Given the description of an element on the screen output the (x, y) to click on. 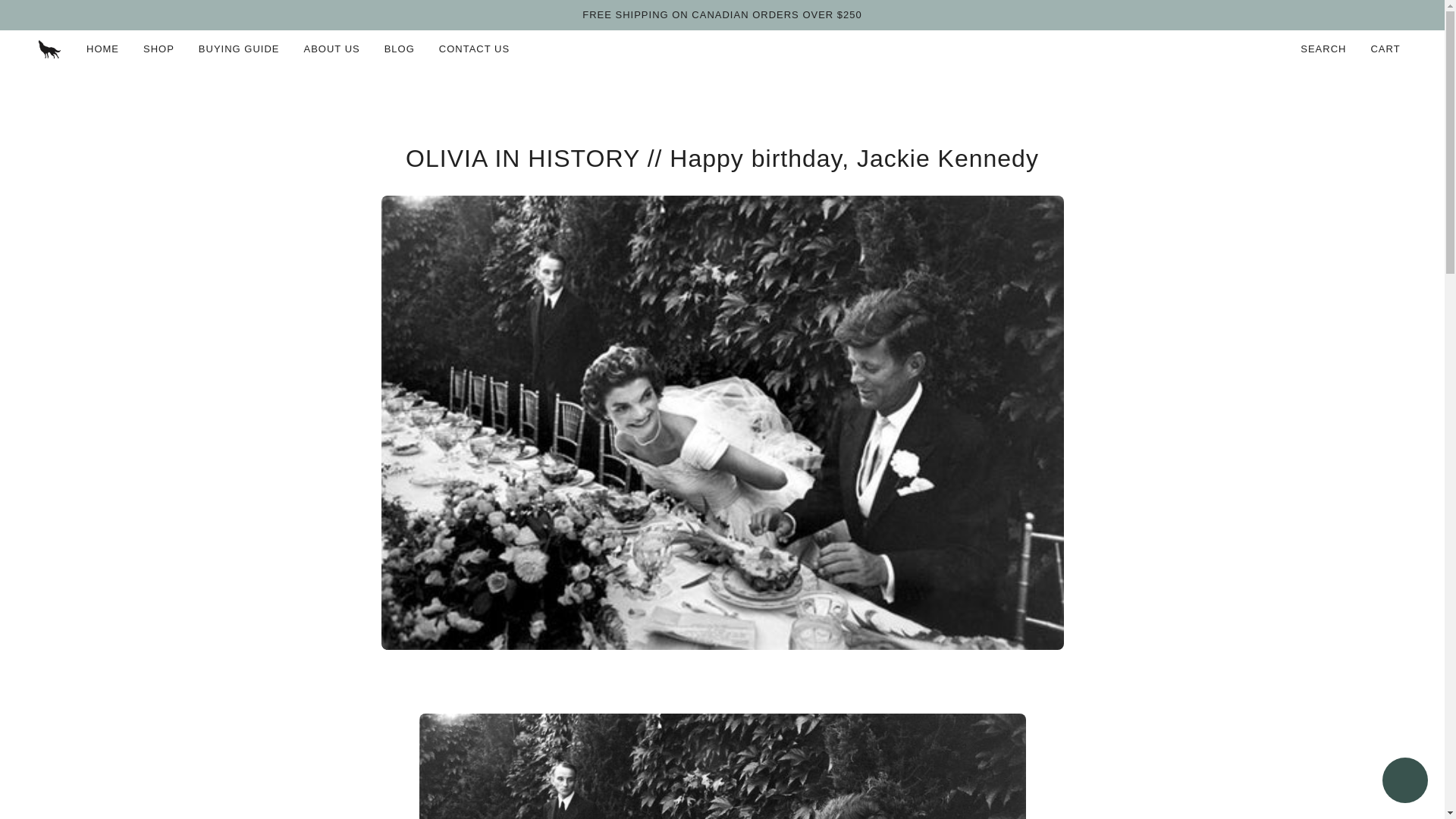
ABOUT US (331, 48)
CART  (1386, 48)
BUYING GUIDE (239, 48)
OLIVIA THE WOLF (49, 49)
SHOP (158, 48)
CONTACT US (473, 48)
BLOG (399, 48)
Shopify online store chat (1404, 781)
HOME (102, 48)
